Given the description of an element on the screen output the (x, y) to click on. 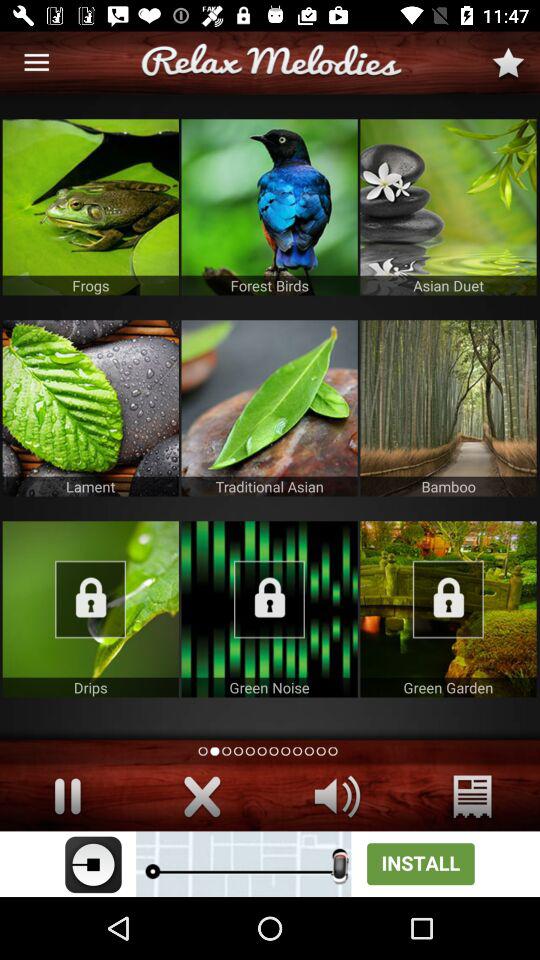
lock (269, 609)
